Given the description of an element on the screen output the (x, y) to click on. 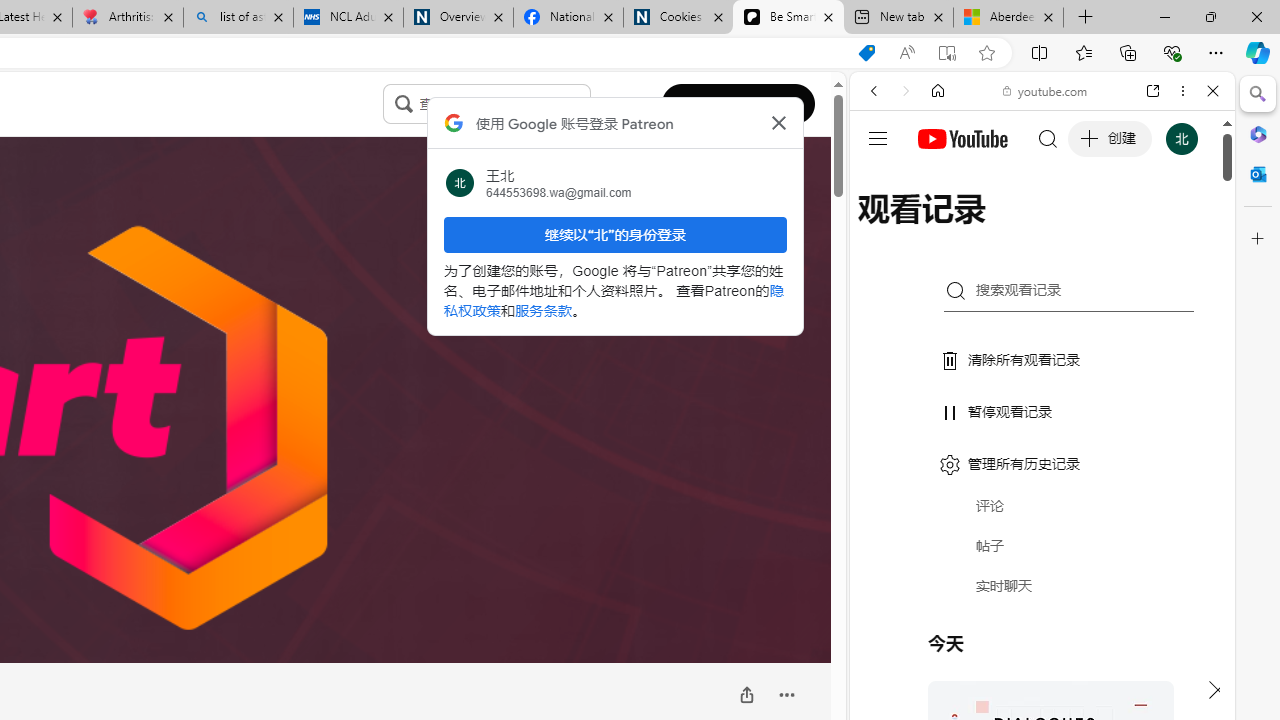
Class: sc-gUQvok bqiJlM (585, 103)
